Given the description of an element on the screen output the (x, y) to click on. 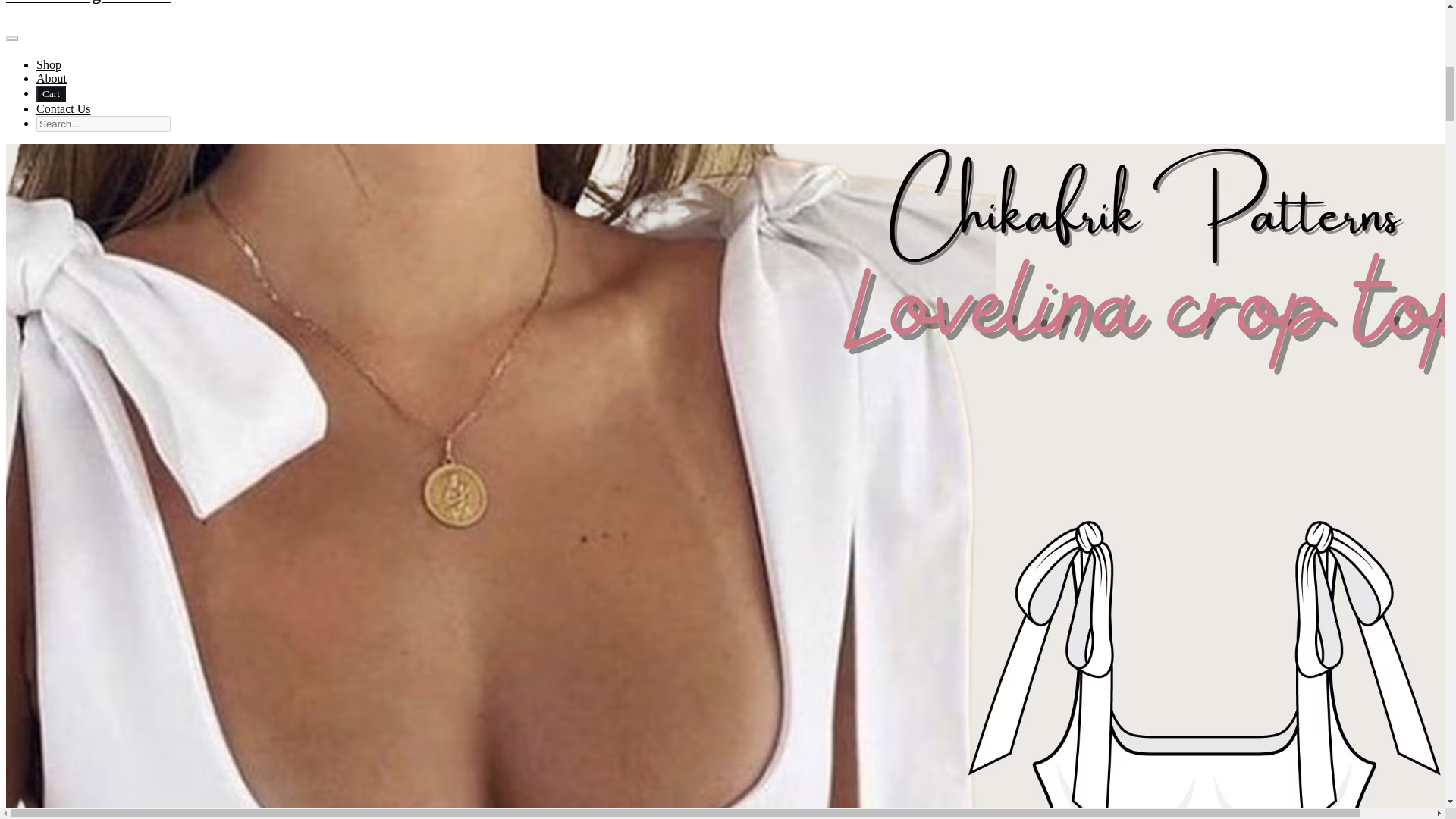
Shop (48, 64)
Cart (50, 93)
Contact Us (63, 108)
About (51, 78)
PDF Sewing Patterns (721, 21)
